Given the description of an element on the screen output the (x, y) to click on. 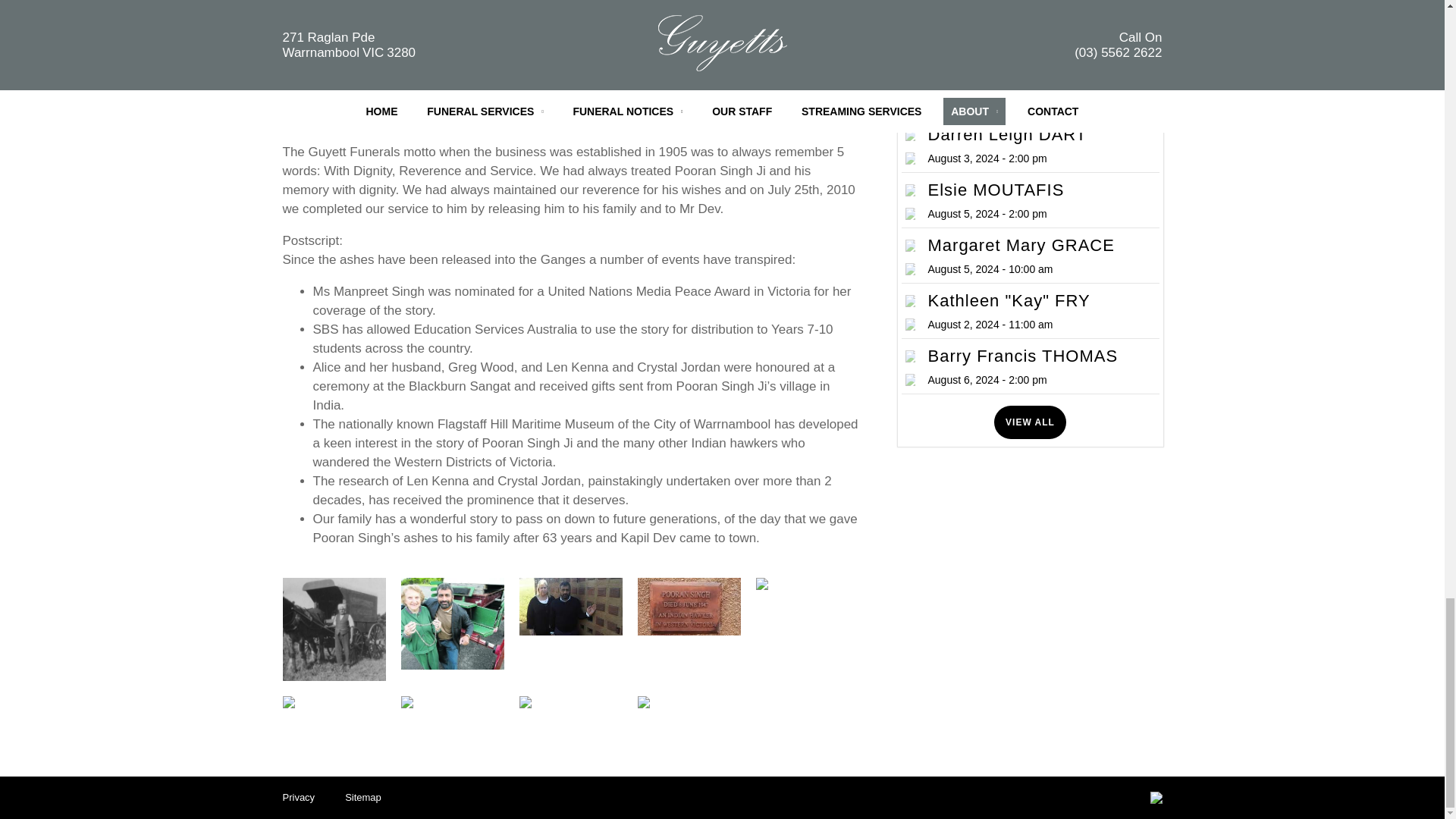
Sitemap (363, 796)
Privacy (298, 796)
